Given the description of an element on the screen output the (x, y) to click on. 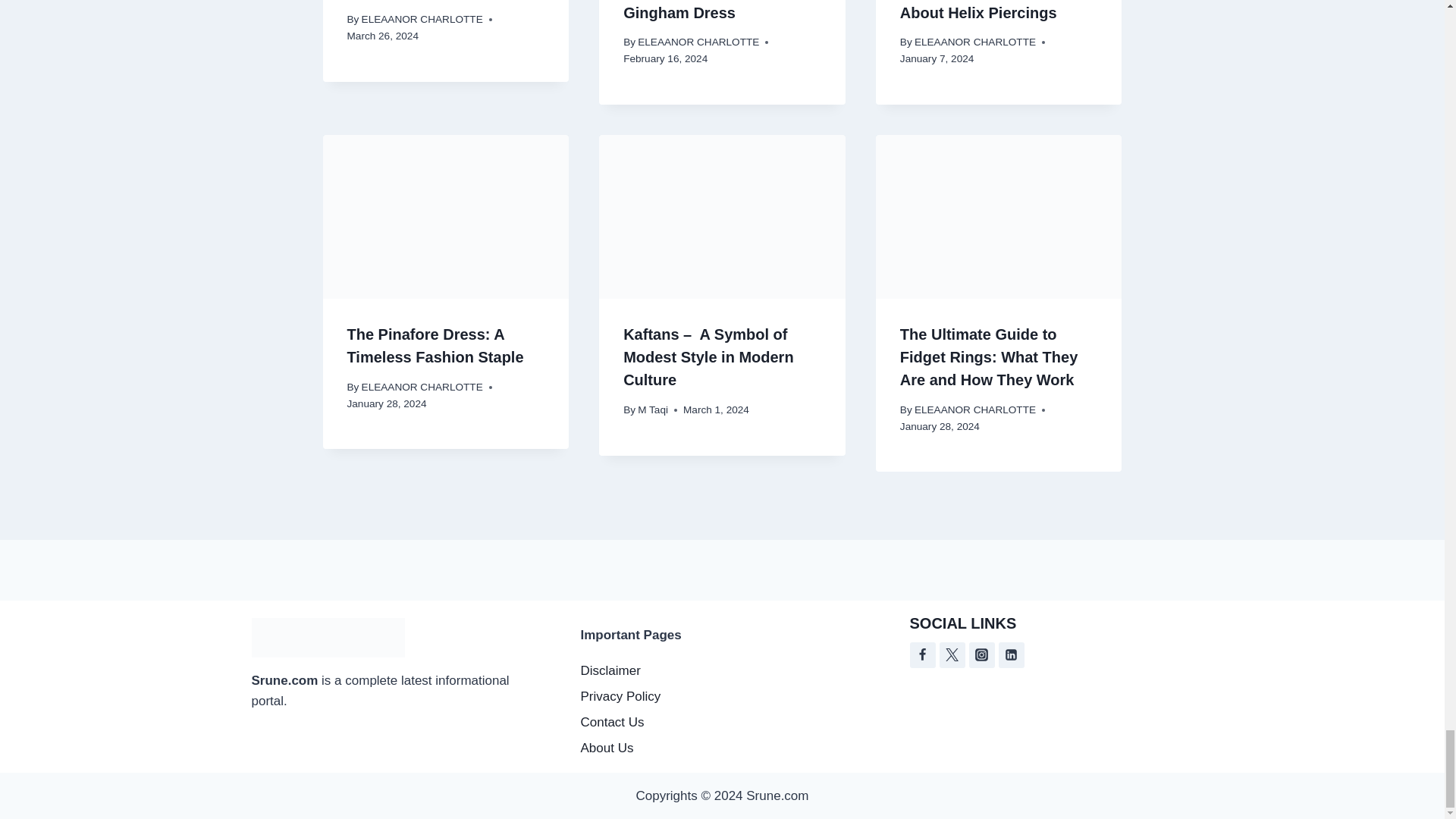
Unleashing Your Inner Fashionista with a Blue Gingham Dress (707, 10)
ELEAANOR CHARLOTTE (422, 19)
ELEAANOR CHARLOTTE (974, 41)
The Pinafore Dress: A Timeless Fashion Staple (435, 345)
ELEAANOR CHARLOTTE (422, 387)
ELEAANOR CHARLOTTE (697, 41)
